Given the description of an element on the screen output the (x, y) to click on. 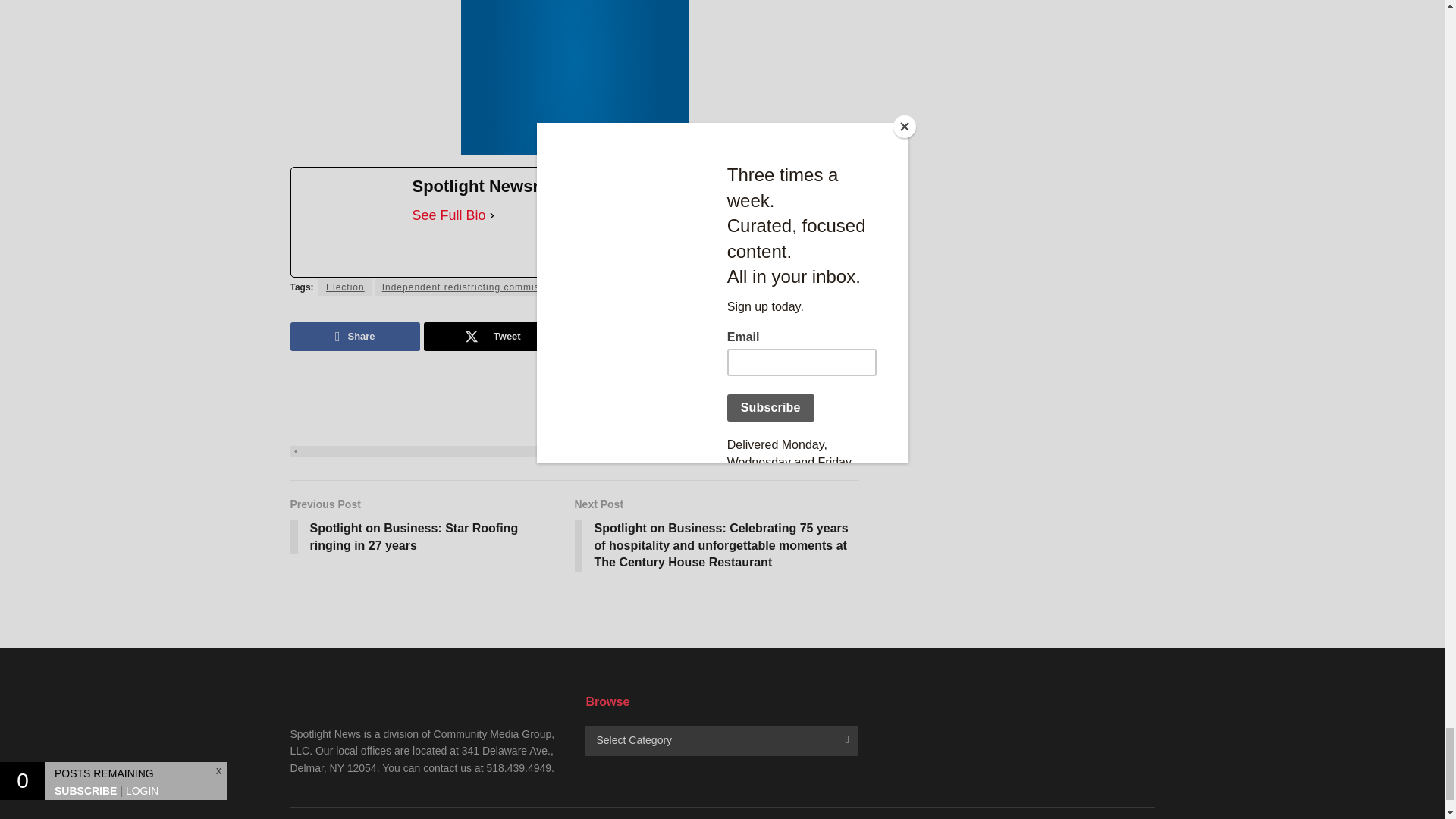
3rd party ad content (574, 77)
3rd party ad content (574, 411)
